Given the description of an element on the screen output the (x, y) to click on. 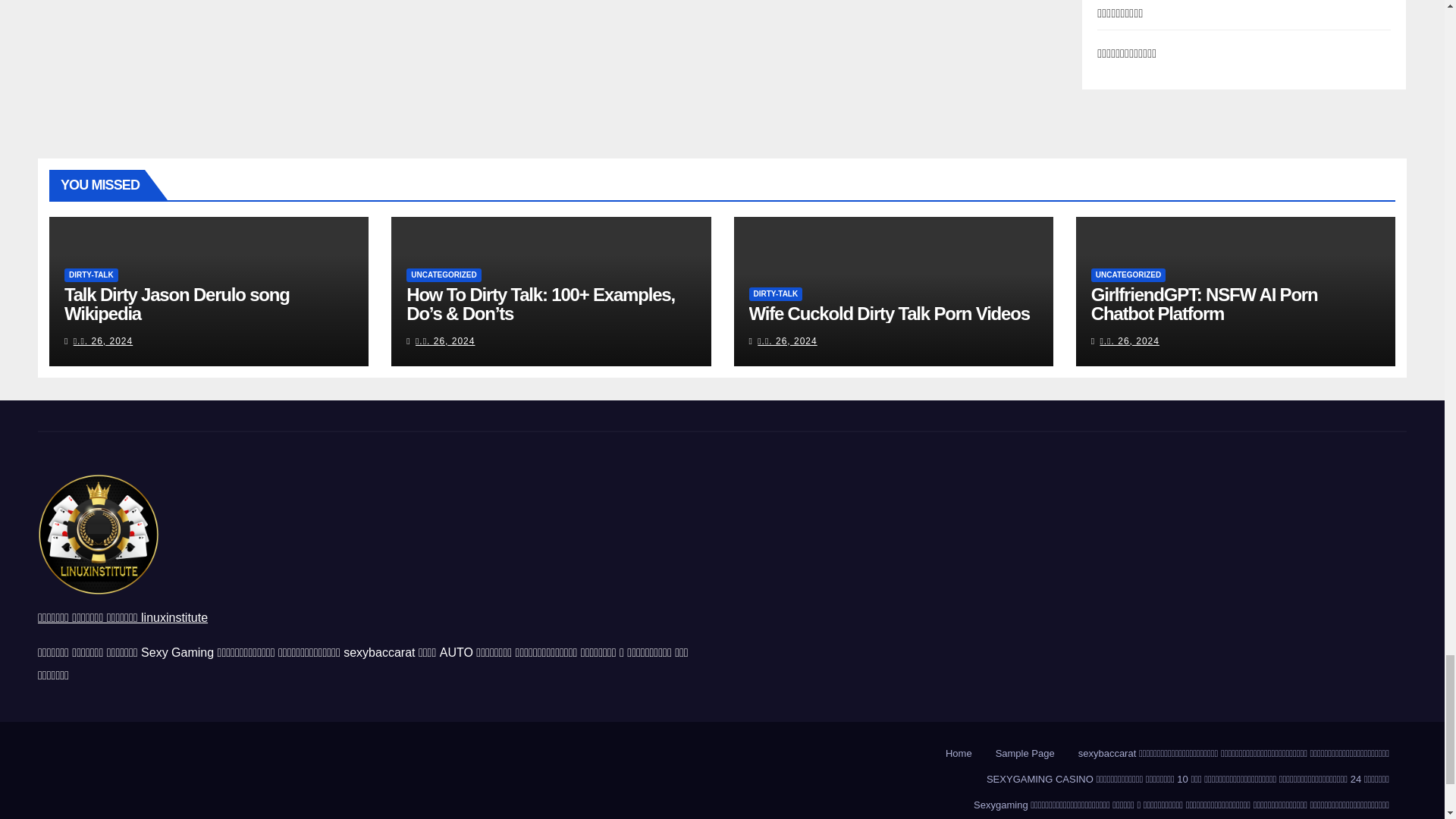
Permalink to: Talk Dirty Jason Derulo song Wikipedia (176, 303)
